Given the description of an element on the screen output the (x, y) to click on. 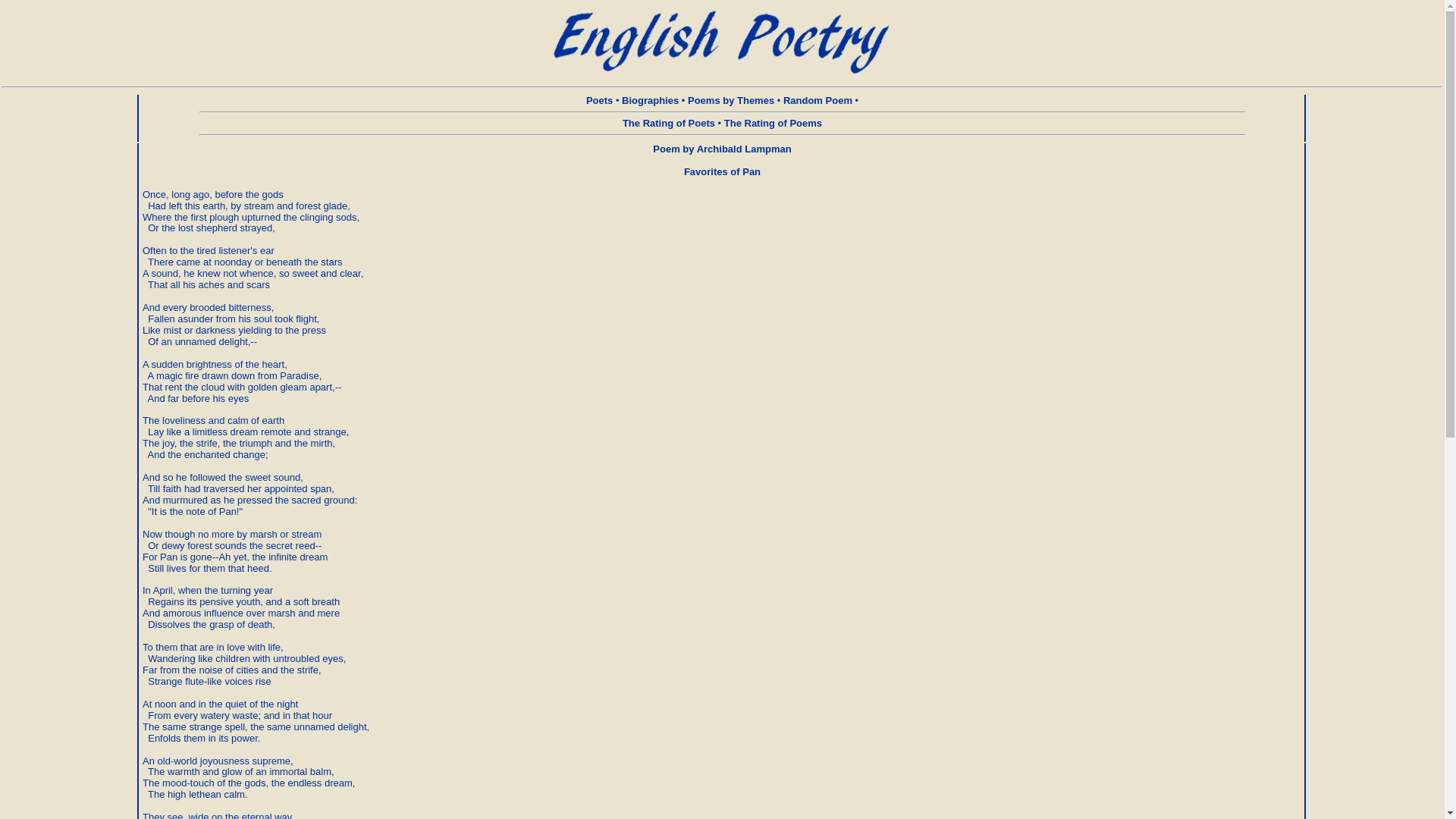
Poets (599, 100)
The Rating of Poems (772, 122)
Poems by Themes (730, 100)
Biographies (649, 100)
Random Poem (817, 100)
The Rating of Poets (668, 122)
